Given the description of an element on the screen output the (x, y) to click on. 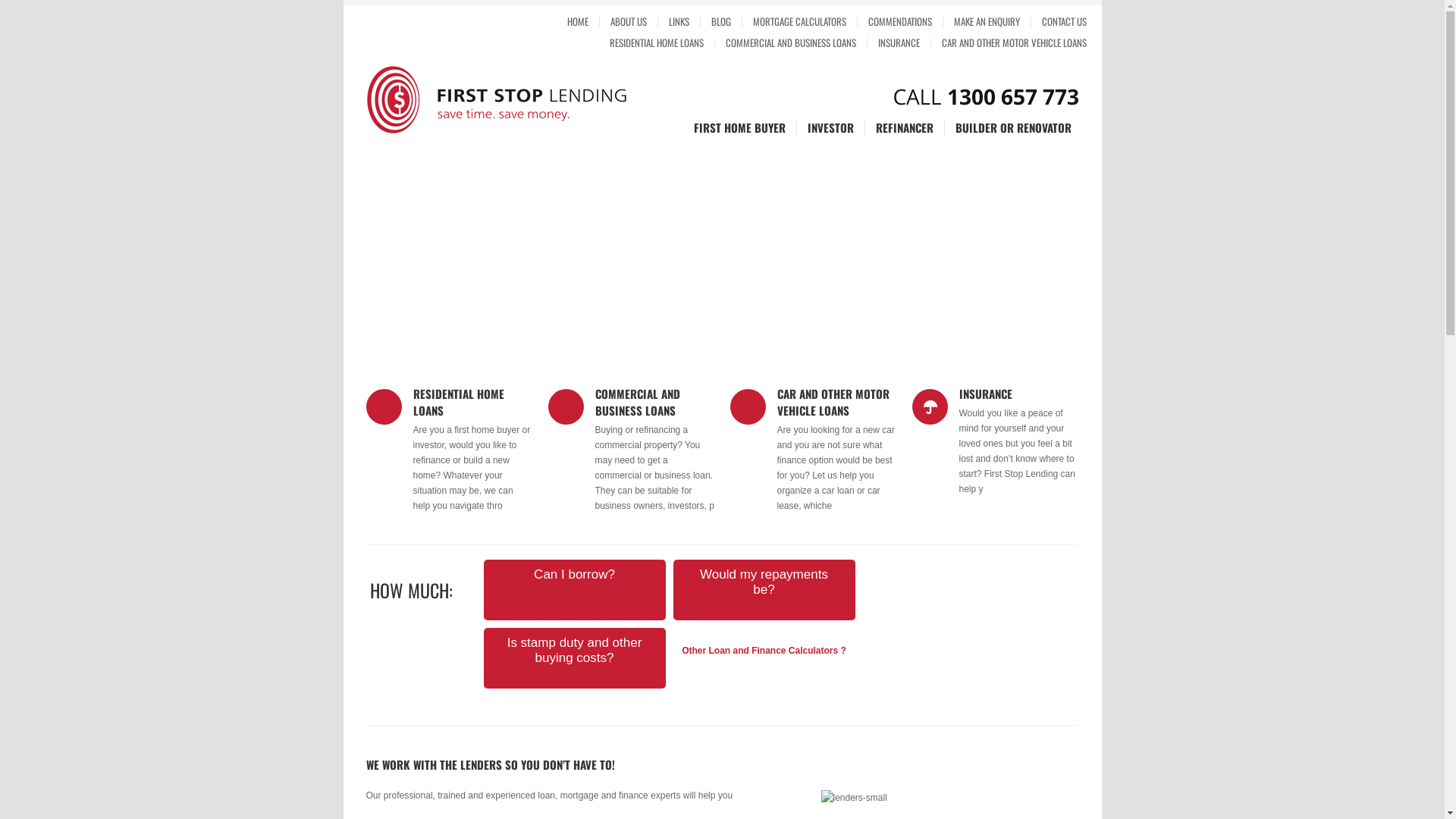
BUILDER OR RENOVATOR Element type: text (1007, 127)
HOME Element type: text (577, 21)
LINKS Element type: text (678, 21)
INVESTOR Element type: text (829, 127)
First Stop Lending Element type: hover (448, 99)
CONTACT US Element type: text (1058, 21)
Would my repayments be? Element type: text (763, 581)
Other Loan and Finance Calculators ? Element type: text (763, 650)
BLOG Element type: text (720, 21)
INSURANCE Element type: text (984, 393)
REFINANCER Element type: text (903, 127)
CAR AND OTHER MOTOR VEHICLE LOANS Element type: text (832, 401)
COMMERCIAL AND BUSINESS LOANS Element type: text (636, 401)
MORTGAGE CALCULATORS Element type: text (798, 21)
FIRST HOME BUYER Element type: text (738, 127)
Is stamp duty and other buying costs? Element type: text (574, 650)
Can I borrow? Element type: text (574, 574)
COMMENDATIONS Element type: text (898, 21)
MAKE AN ENQUIRY Element type: text (986, 21)
RESIDENTIAL HOME LOANS Element type: text (457, 401)
